Given the description of an element on the screen output the (x, y) to click on. 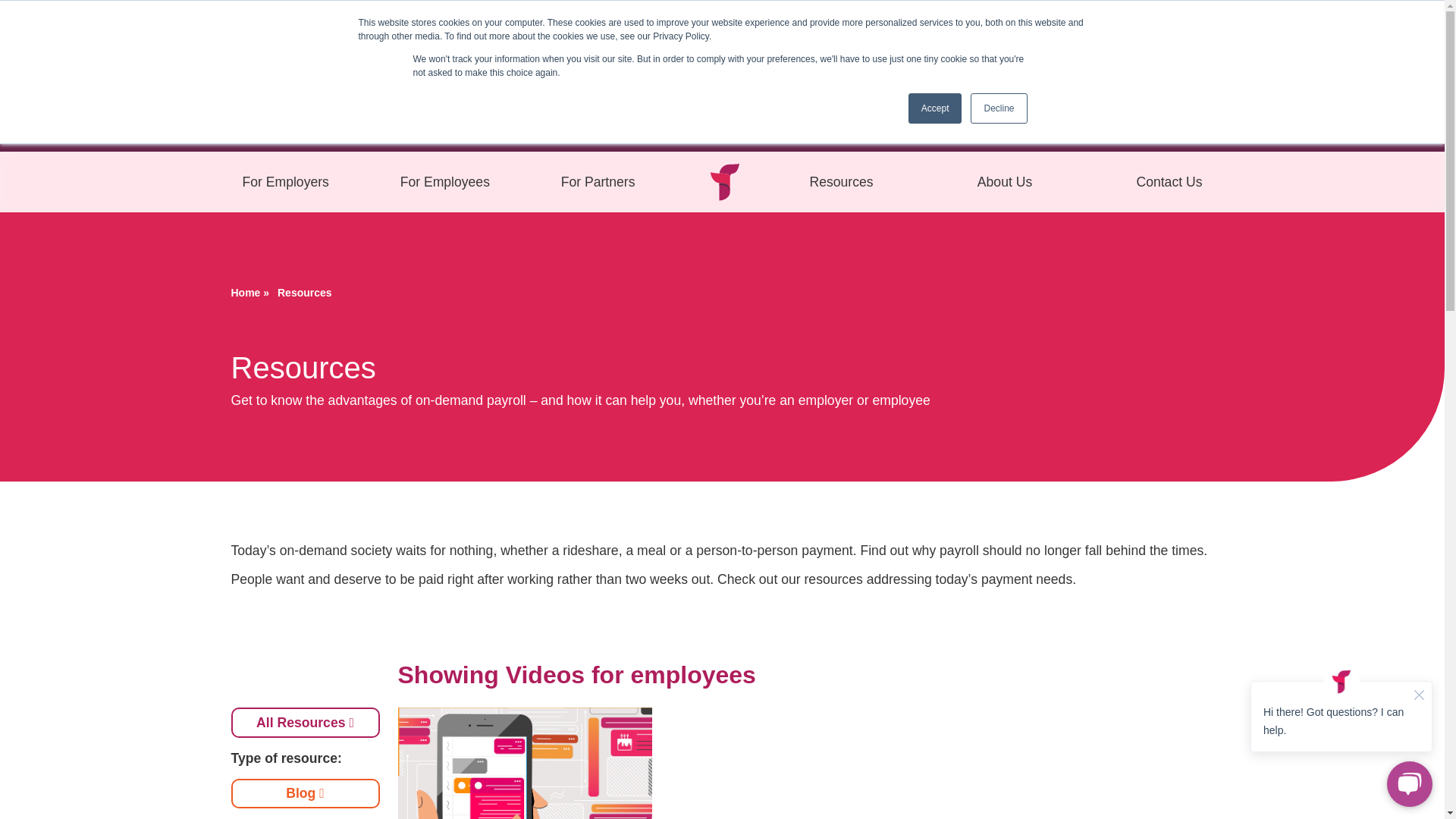
Blog (304, 793)
Resources (840, 181)
For Partners (598, 181)
All Resources (304, 722)
See Rules and More Info (1271, 75)
Home (245, 292)
For Employers (284, 181)
Contact Us (1168, 181)
Accept (935, 108)
Decline (998, 108)
For Employees (444, 181)
Fintwist Homepage (721, 181)
About Us (1004, 181)
